Given the description of an element on the screen output the (x, y) to click on. 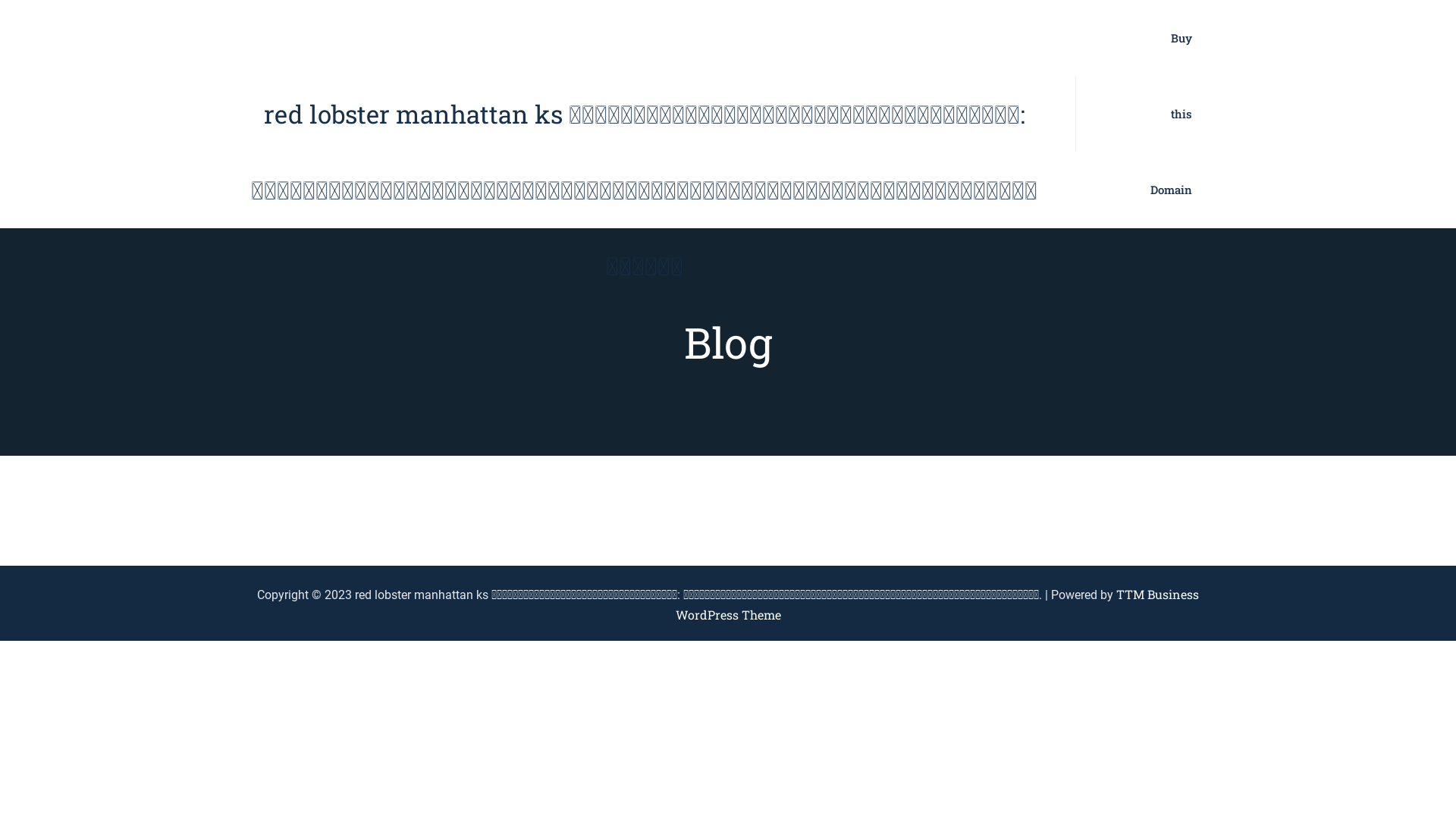
Buy this Domain Element type: text (1171, 113)
TTM Business WordPress Theme Element type: text (936, 604)
